Given the description of an element on the screen output the (x, y) to click on. 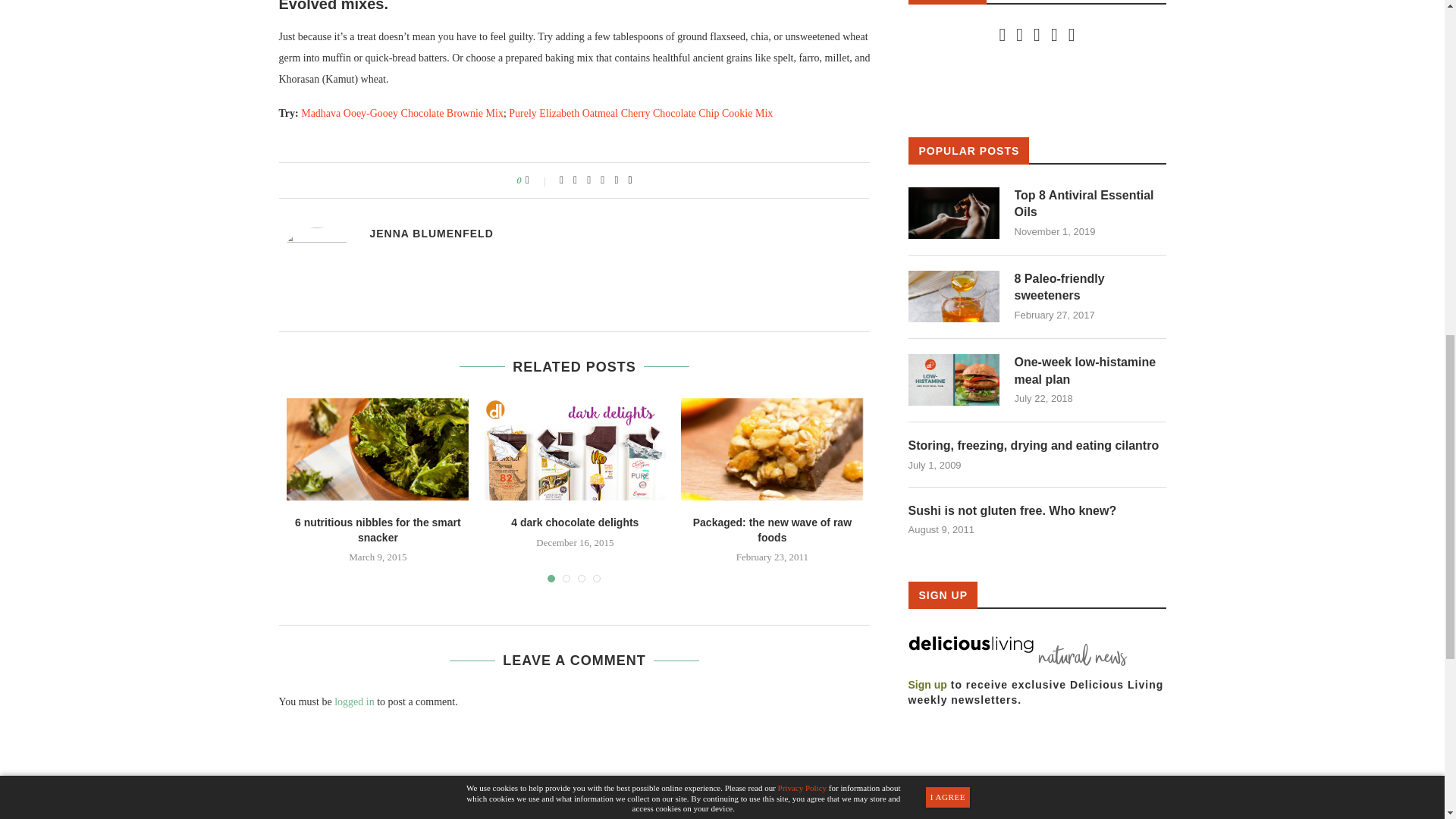
6 nutritious nibbles for the smart snacker (377, 450)
4 dark chocolate delights (574, 450)
Like (537, 180)
Packaged: the new wave of raw foods (772, 450)
